Given the description of an element on the screen output the (x, y) to click on. 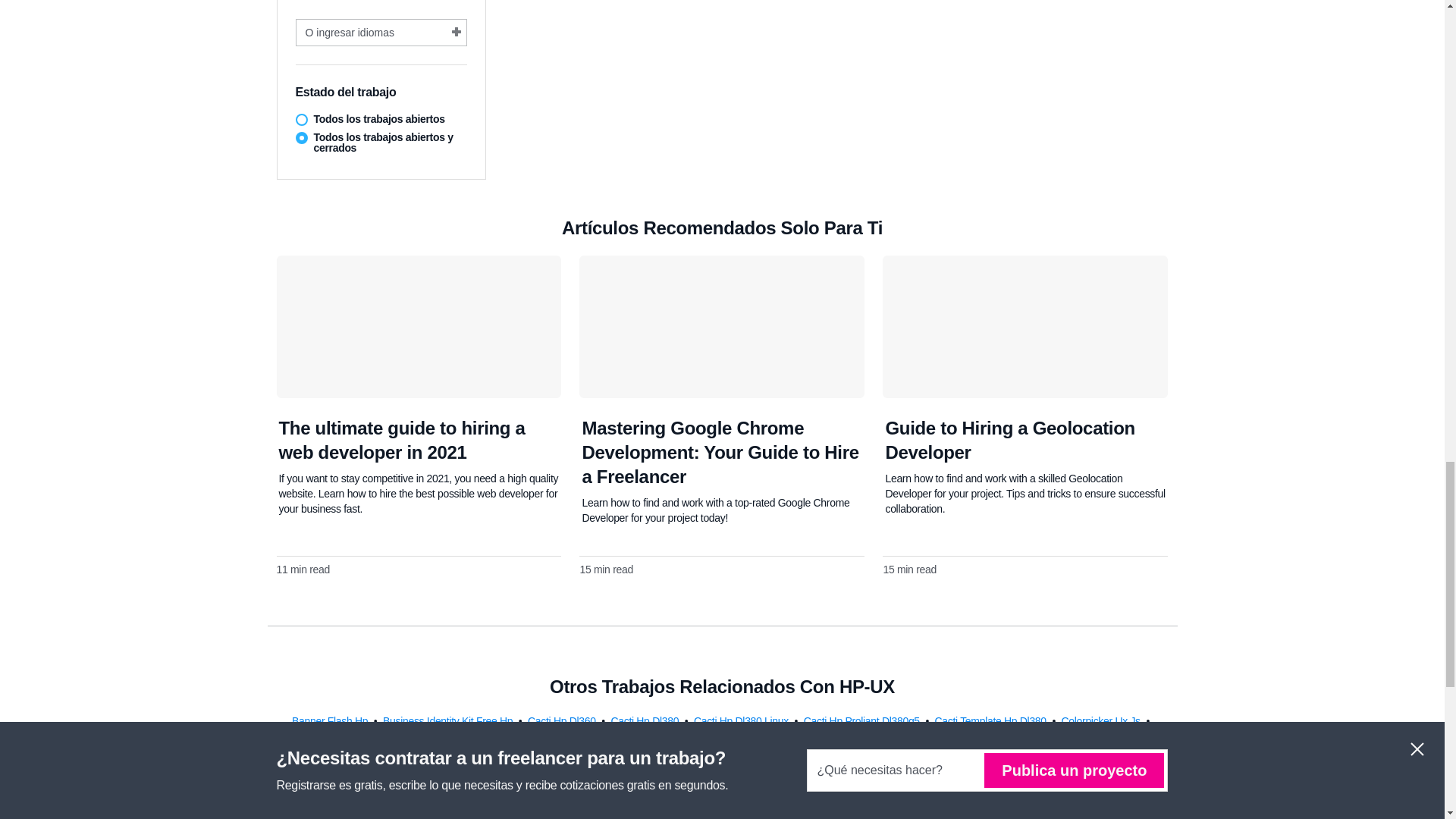
Banner Flash Hp (331, 720)
Guide to Hiring a Geolocation Developer (1009, 439)
Cacti Hp Dl380 (645, 720)
Business Identity Kit Free Hp (448, 720)
Cacti Hp Dl360 (562, 720)
Cacti Hp Dl380 Linux (743, 720)
The ultimate guide to hiring a web developer in 2021 (402, 439)
Cacti Hp Proliant Dl380g5 (863, 720)
